Given the description of an element on the screen output the (x, y) to click on. 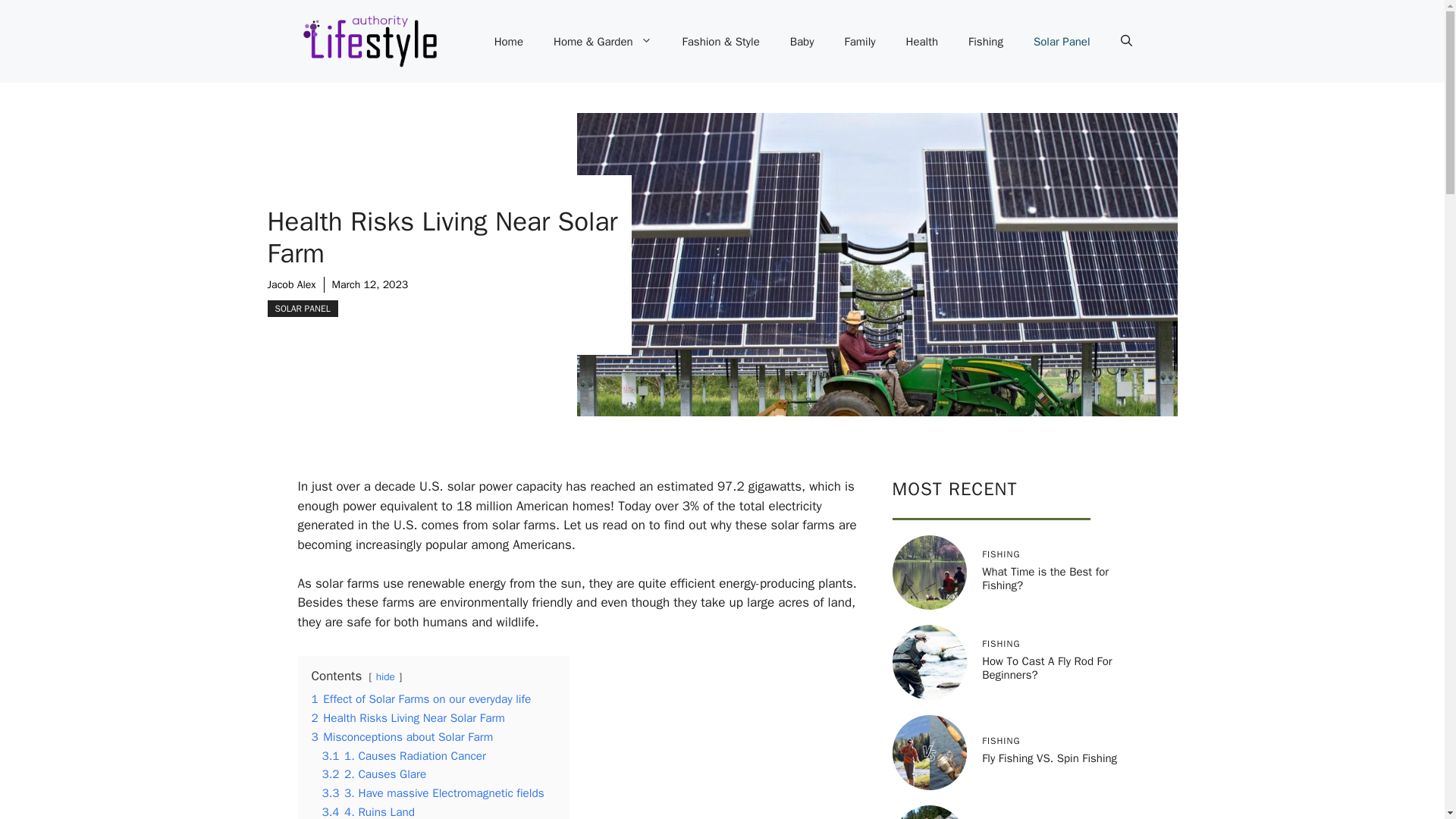
3.3 3. Have massive Electromagnetic fields (432, 792)
3.4 4. Ruins Land (367, 811)
hide (384, 676)
3 Misconceptions about Solar Farm (402, 736)
3.1 1. Causes Radiation Cancer (403, 755)
Home (508, 41)
1 Effect of Solar Farms on our everyday life (421, 698)
2 Health Risks Living Near Solar Farm (407, 717)
SOLAR PANEL (301, 308)
Baby (801, 41)
Solar Panel (1061, 41)
3.2 2. Causes Glare (373, 774)
What Time is the Best for Fishing? (1044, 578)
Health (922, 41)
Jacob Alex (290, 284)
